Given the description of an element on the screen output the (x, y) to click on. 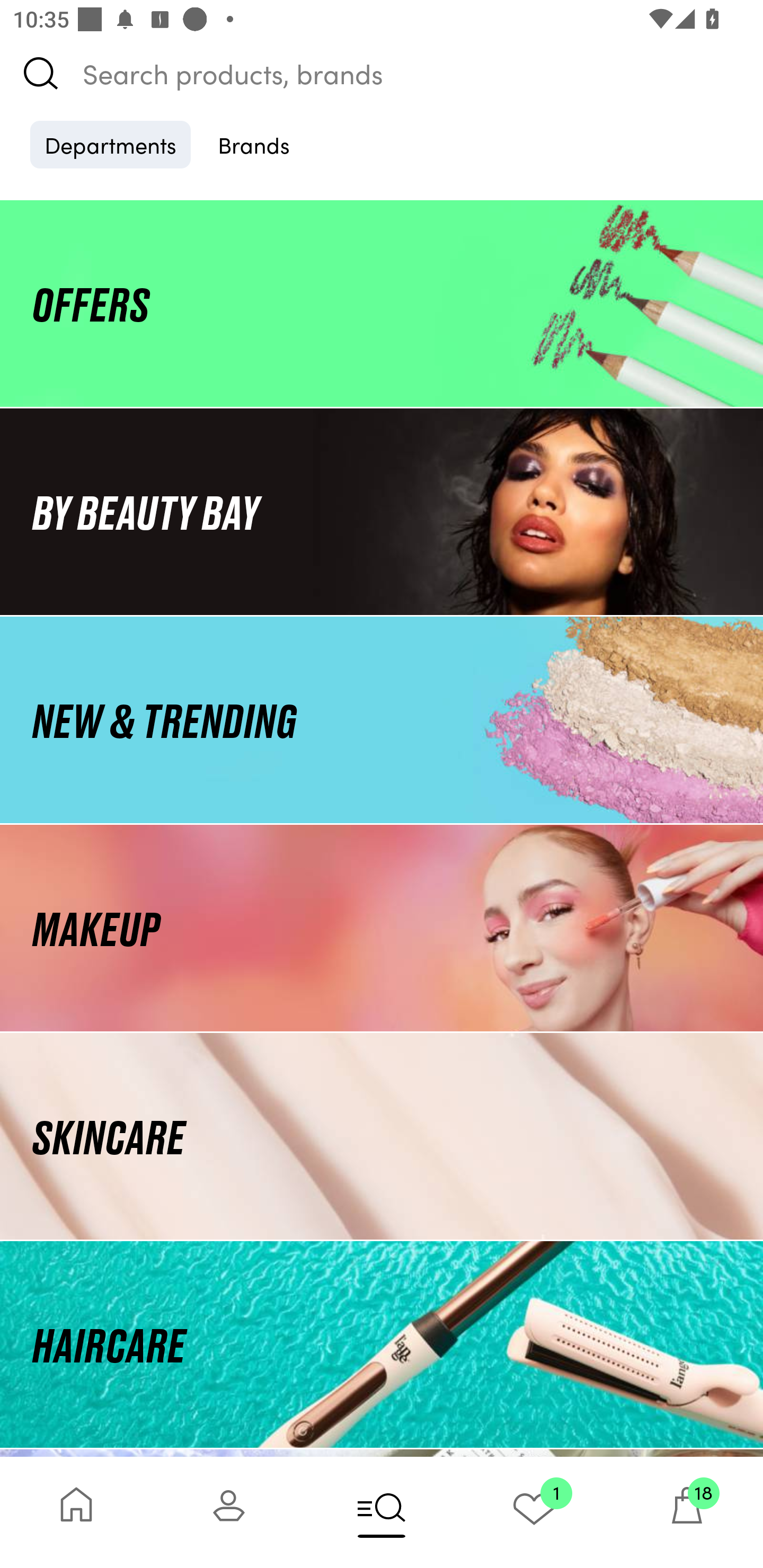
Search products, brands (381, 72)
Departments (110, 143)
Brands (253, 143)
OFFERS (381, 303)
BY BEAUTY BAY (381, 510)
NEW & TRENDING (381, 719)
MAKEUP (381, 927)
SKINCARE (381, 1136)
HAIRCARE (381, 1344)
1 (533, 1512)
18 (686, 1512)
